Given the description of an element on the screen output the (x, y) to click on. 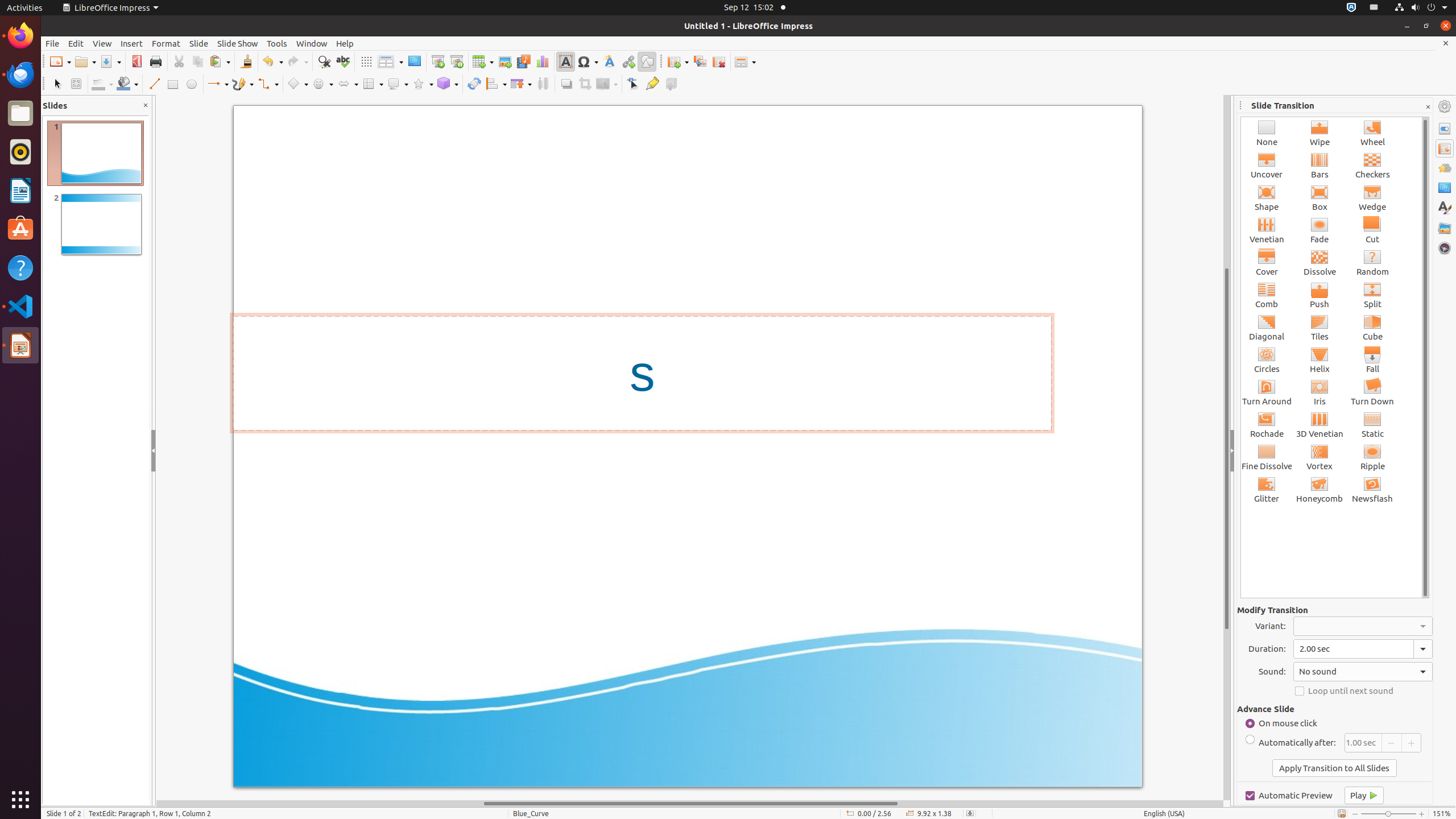
Properties Element type: radio-button (1444, 128)
Window Element type: menu (311, 43)
Close Pane Element type: push-button (145, 105)
Start from First Slide Element type: push-button (437, 61)
New Slide Element type: push-button (677, 61)
